Given the description of an element on the screen output the (x, y) to click on. 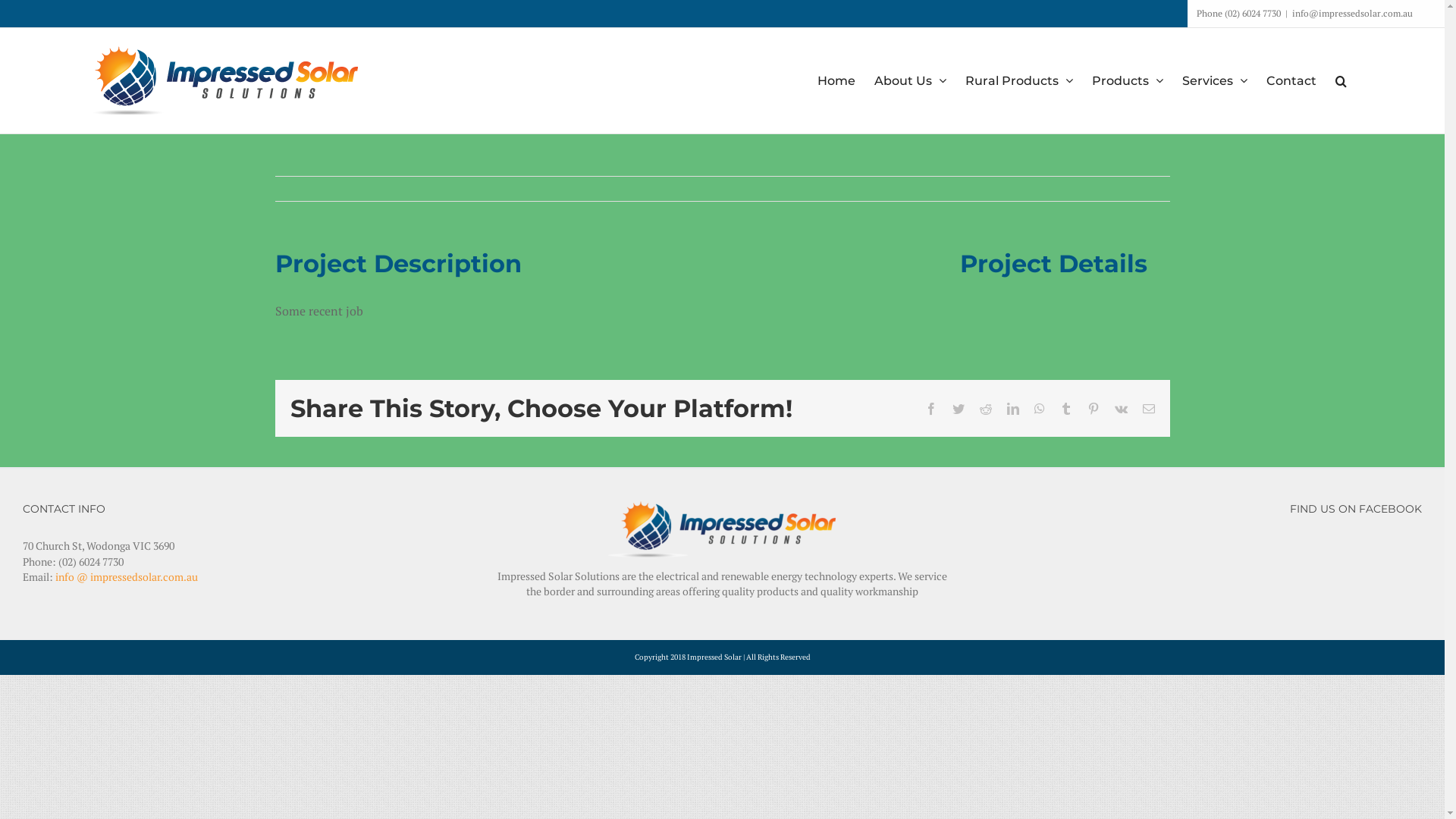
Vk Element type: text (1120, 408)
Pinterest Element type: text (1093, 408)
Rural Products Element type: text (1019, 80)
Search Element type: hover (1340, 80)
Reddit Element type: text (985, 408)
Facebook Element type: text (931, 408)
Email Element type: text (1148, 408)
Tumblr Element type: text (1066, 408)
Products Element type: text (1127, 80)
Services Element type: text (1214, 80)
Home Element type: text (836, 80)
Contact Element type: text (1291, 80)
info @ impressedsolar.com.au Element type: text (126, 576)
About Us Element type: text (910, 80)
WhatsApp Element type: text (1039, 408)
info@impressedsolar.com.au Element type: text (1352, 12)
LinkedIn Element type: text (1013, 408)
Twitter Element type: text (958, 408)
